Given the description of an element on the screen output the (x, y) to click on. 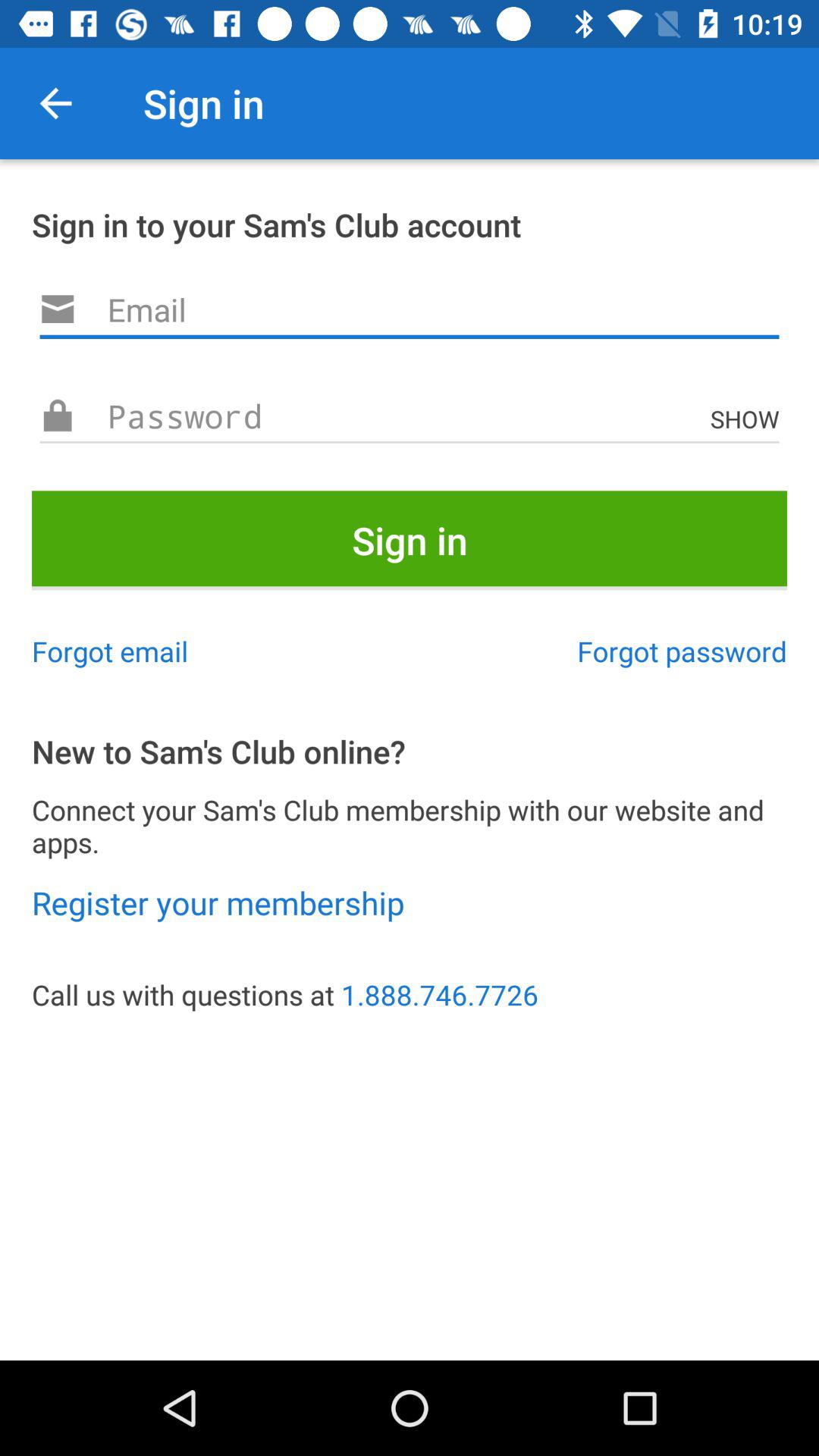
tap icon below sign in icon (682, 650)
